Given the description of an element on the screen output the (x, y) to click on. 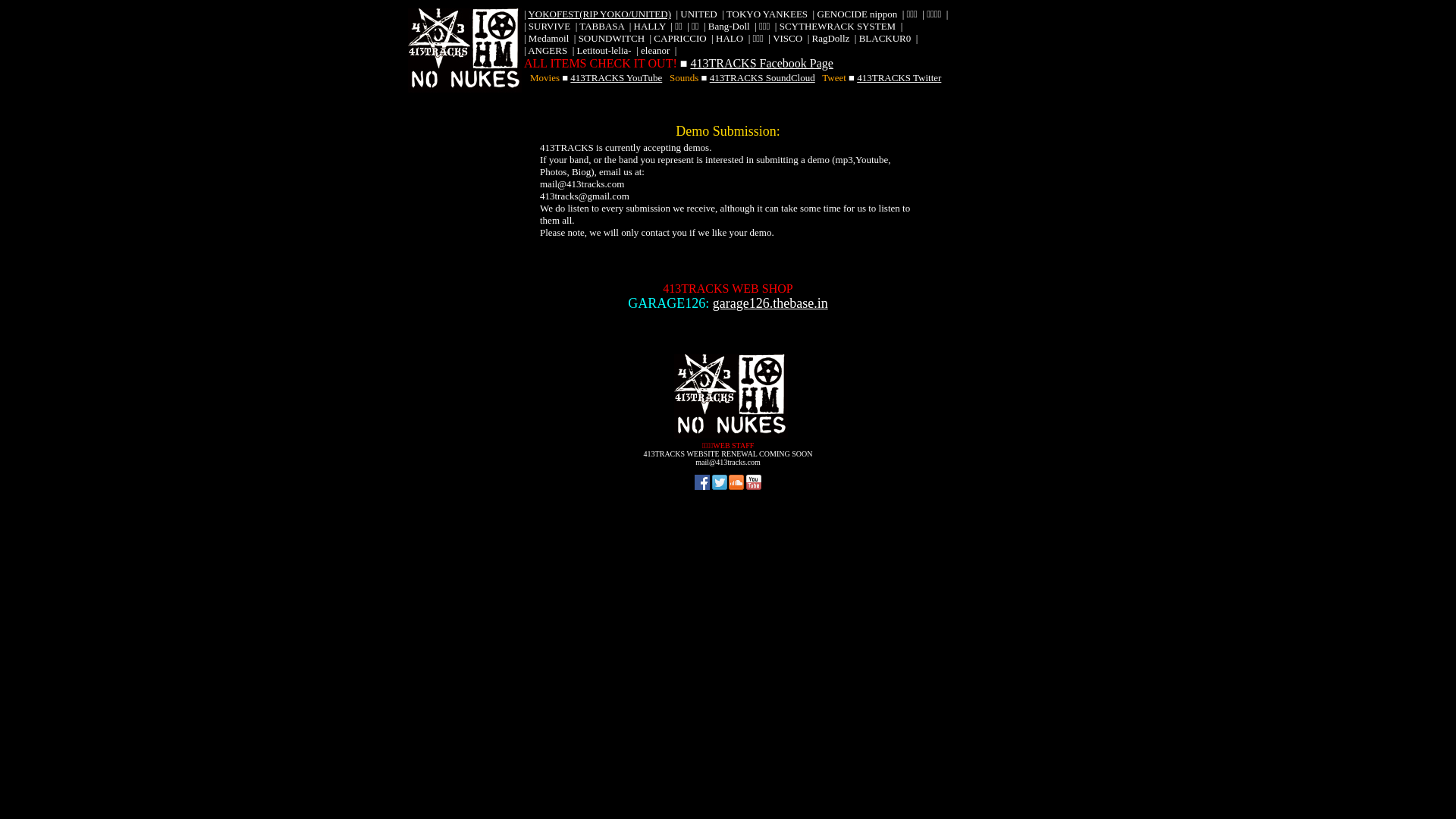
413TRACKS Twitter Element type: text (898, 77)
413TRACKS SoundCloud Element type: text (762, 77)
YOKOFEST(RIP YOKO/UNITED) Element type: text (599, 13)
413TRACKS Facebook Page Element type: text (761, 62)
413TRACKS YouTube Element type: text (616, 77)
garage126.thebase.in Element type: text (770, 302)
